Given the description of an element on the screen output the (x, y) to click on. 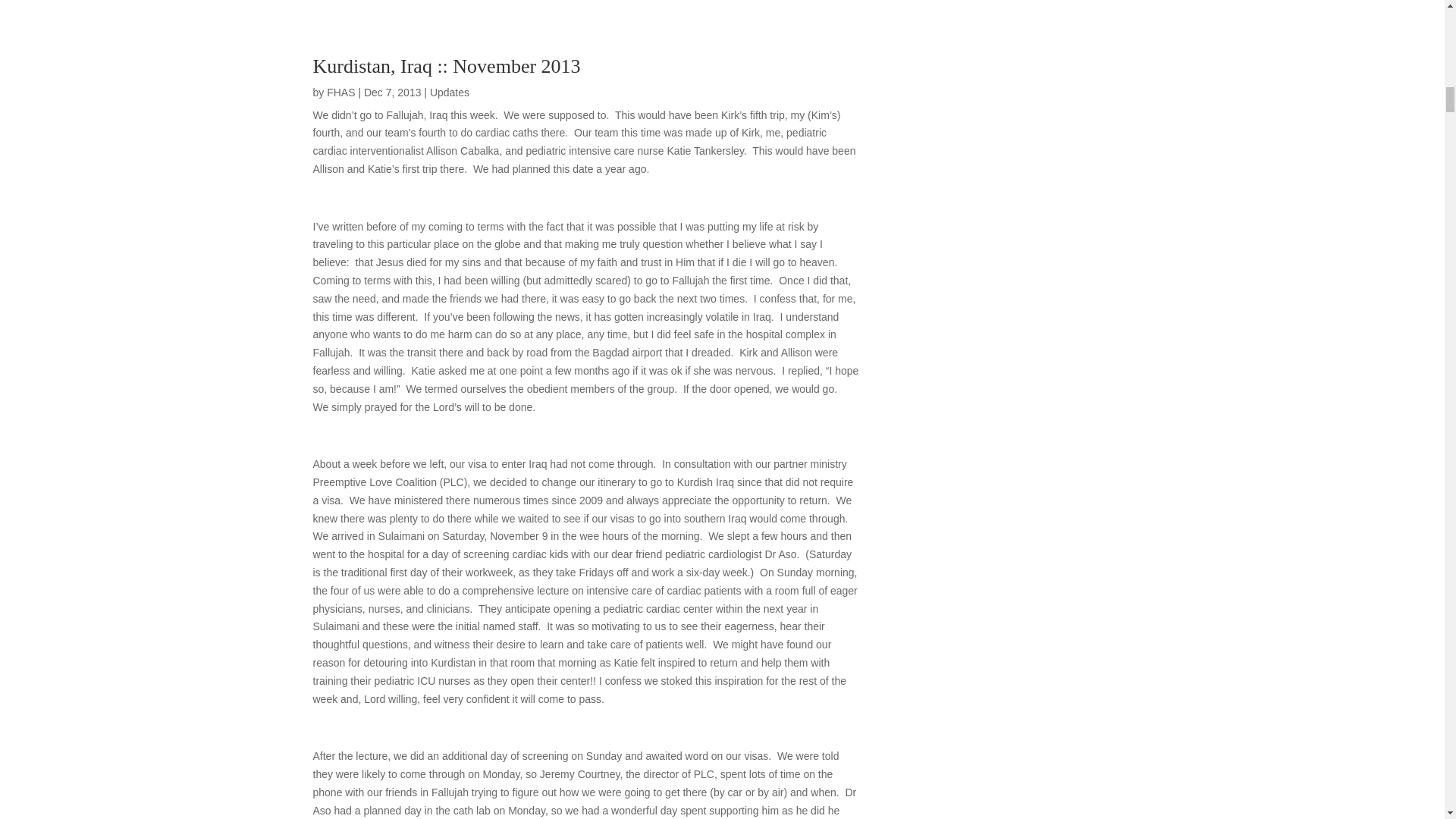
Kurdistan, Iraq :: November 2013 (446, 65)
Updates (448, 92)
Posts by FHAS (340, 92)
FHAS (340, 92)
